Given the description of an element on the screen output the (x, y) to click on. 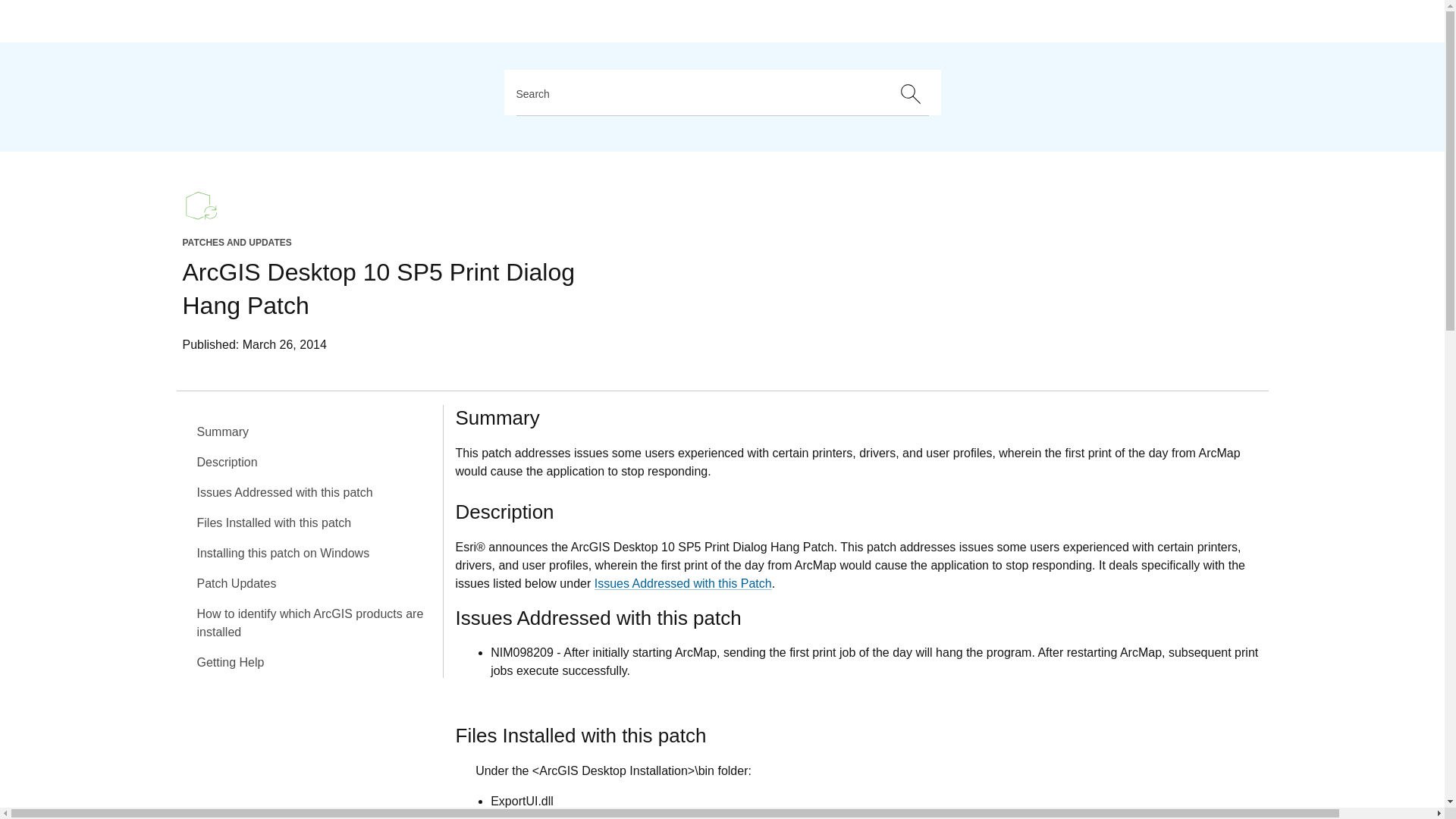
Patch Updates (314, 583)
Description (314, 462)
How to identify which ArcGIS products are installed (314, 622)
Installing this patch on Windows (314, 553)
Issues Addressed with this patch (314, 492)
Getting Help (314, 662)
Summary (314, 431)
Files Installed with this patch (314, 522)
Issues Addressed with this Patch (682, 582)
